Given the description of an element on the screen output the (x, y) to click on. 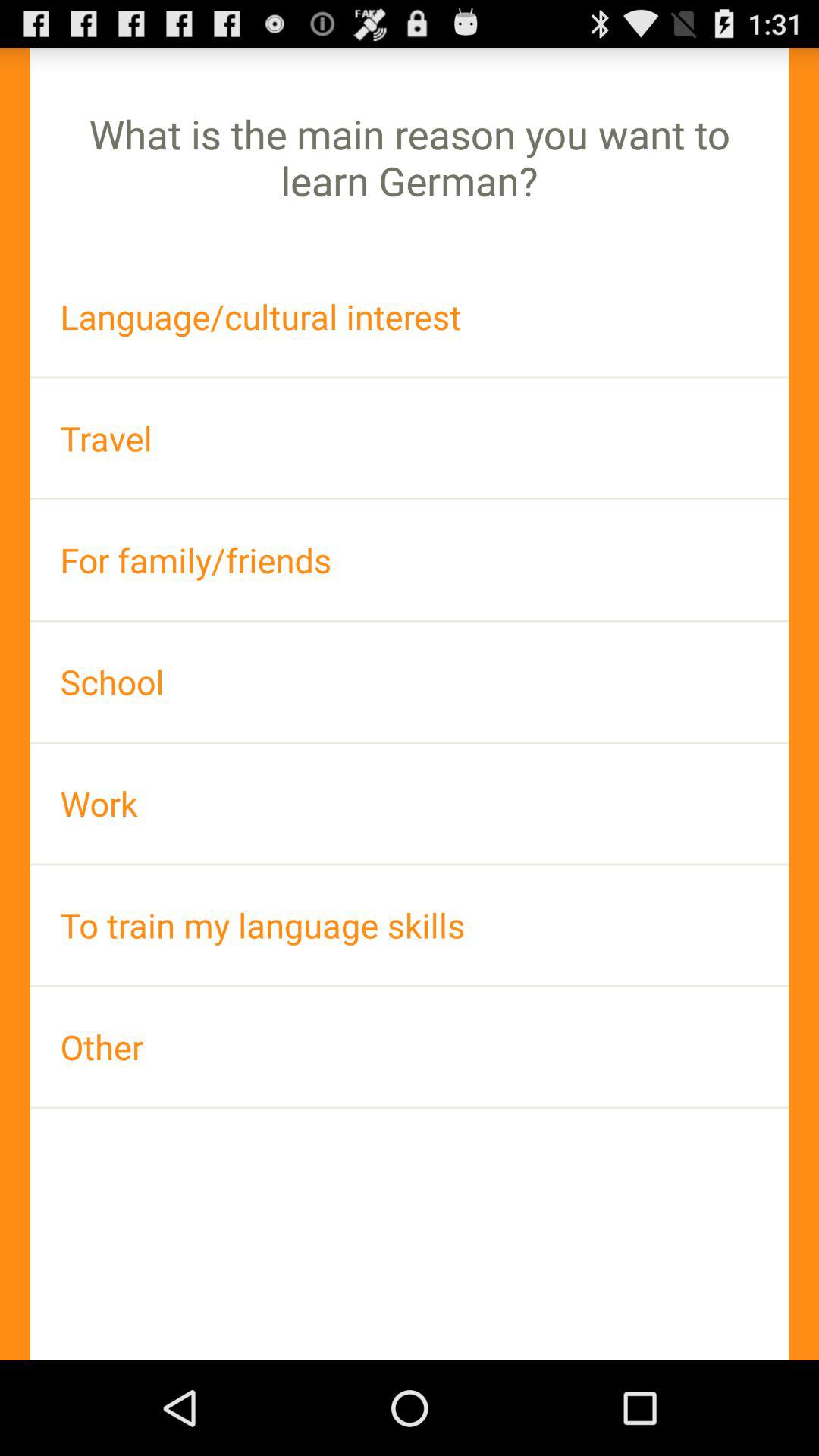
jump until other icon (409, 1046)
